Given the description of an element on the screen output the (x, y) to click on. 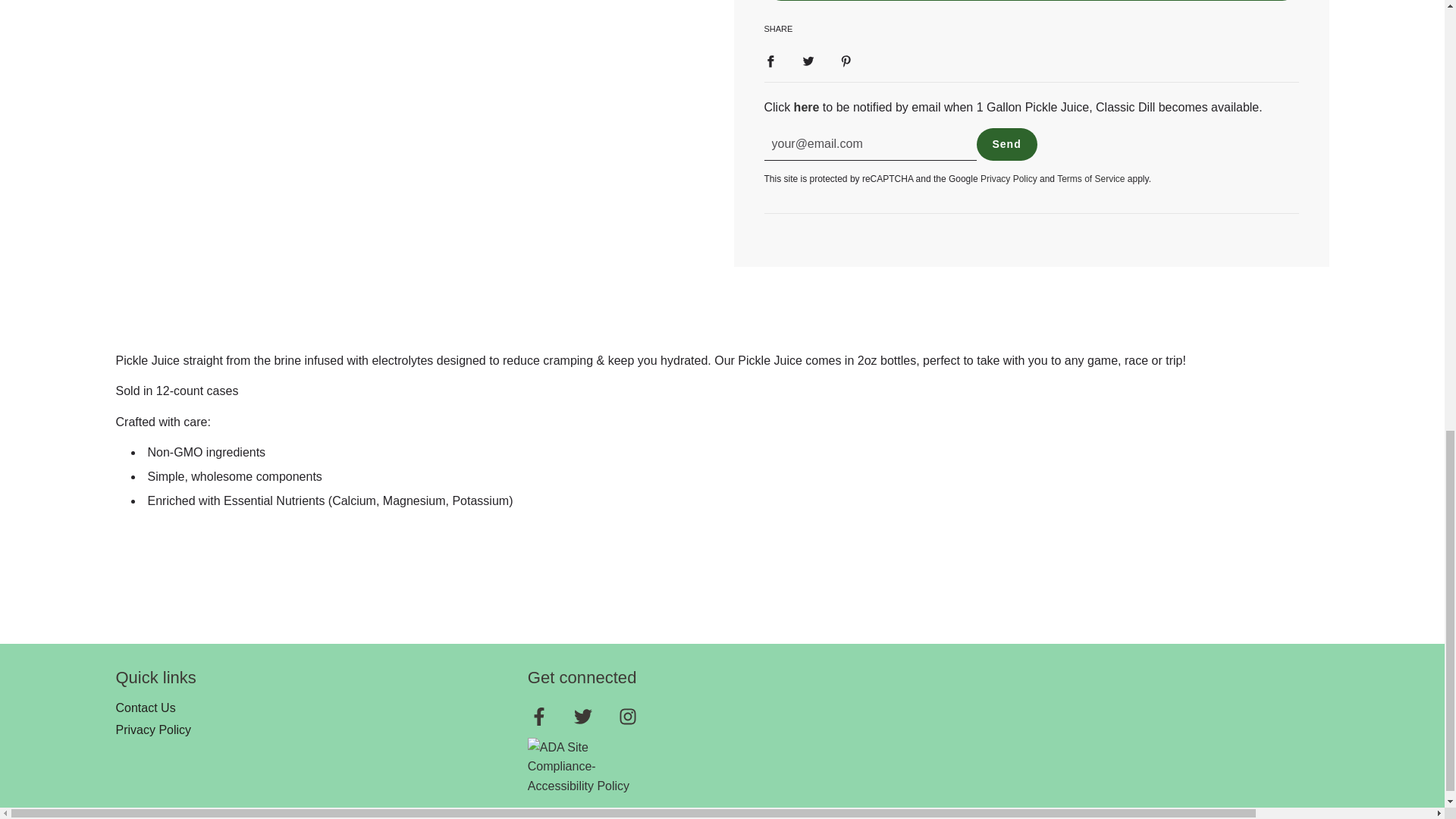
Send (1006, 143)
here (806, 106)
Send (1006, 143)
